Given the description of an element on the screen output the (x, y) to click on. 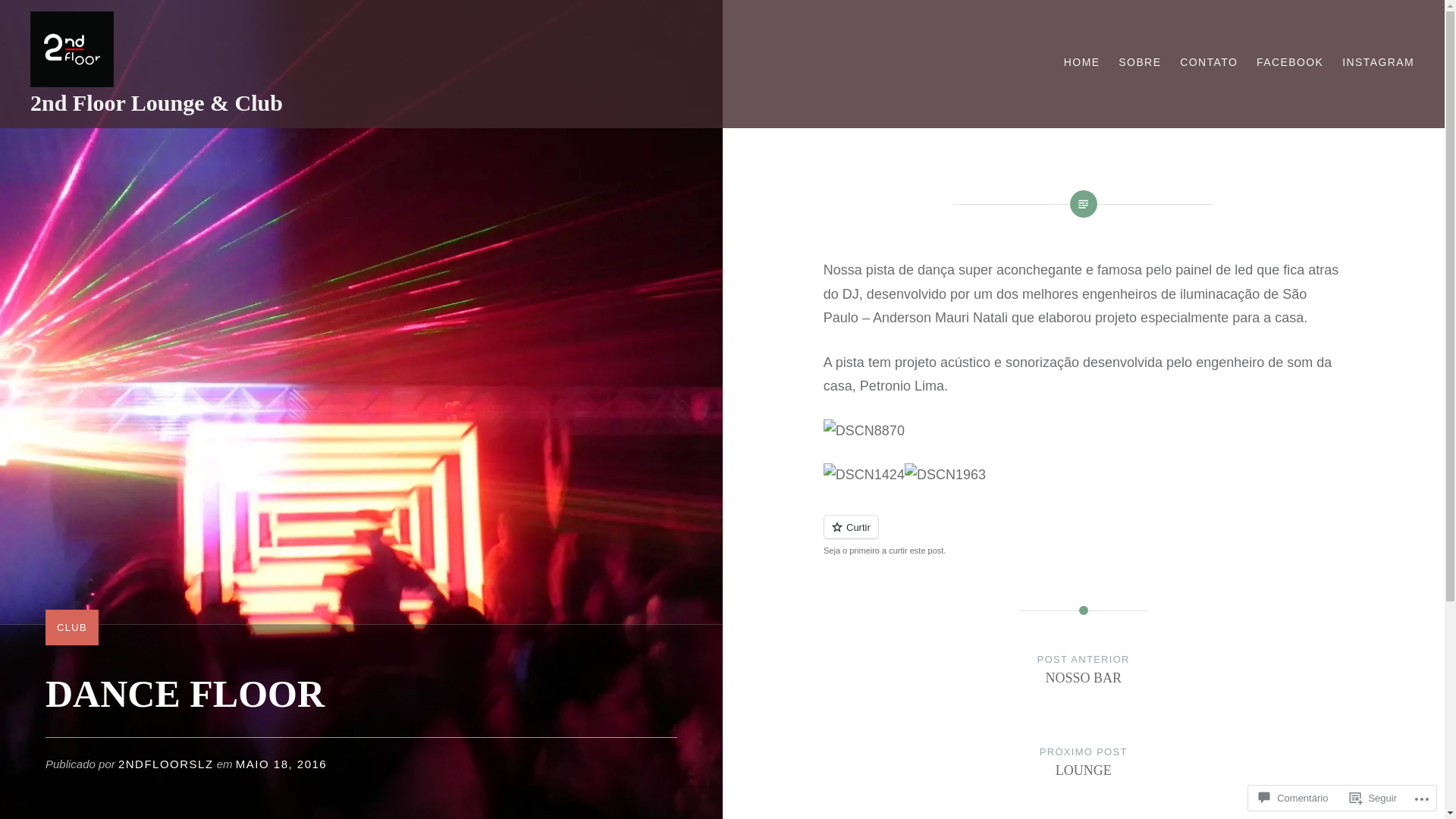
INSTAGRAM Element type: text (1378, 62)
Seguir Element type: text (1372, 797)
2NDFLOORSLZ Element type: text (165, 763)
2nd Floor Lounge & Club Element type: text (156, 102)
CONTATO Element type: text (1208, 62)
HOME Element type: text (1081, 62)
FACEBOOK Element type: text (1289, 62)
CLUB Element type: text (71, 627)
MAIO 18, 2016 Element type: text (280, 763)
SOBRE Element type: text (1139, 62)
Curtir ou reblogar Element type: hover (1083, 534)
POST ANTERIOR
NOSSO BAR Element type: text (1083, 682)
